Given the description of an element on the screen output the (x, y) to click on. 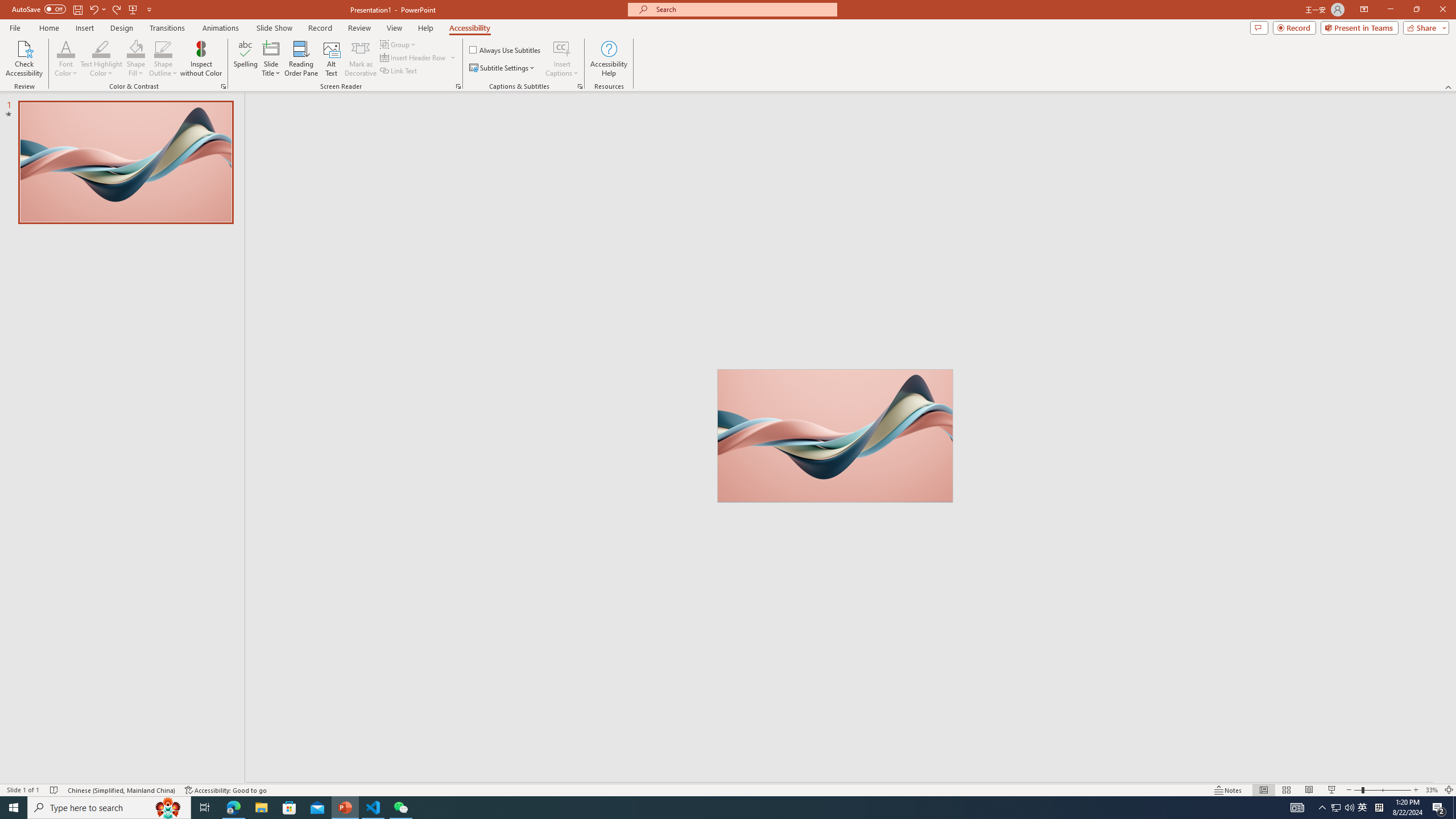
Insert Captions (561, 48)
